Given the description of an element on the screen output the (x, y) to click on. 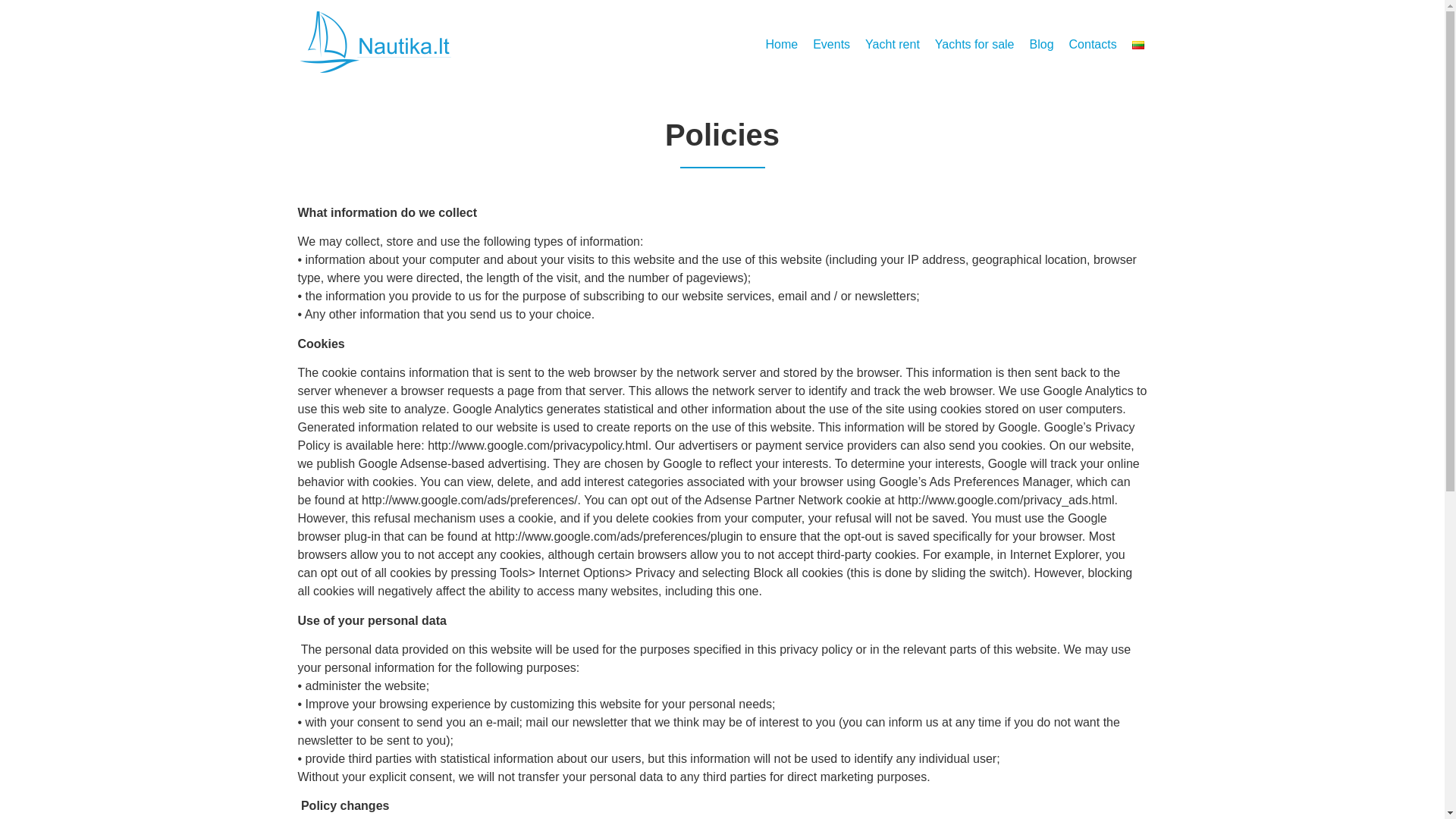
Yacht rent (892, 44)
Home (782, 44)
Blog (1041, 44)
Yachts for sale (974, 44)
Events (831, 44)
Contacts (1092, 44)
